Given the description of an element on the screen output the (x, y) to click on. 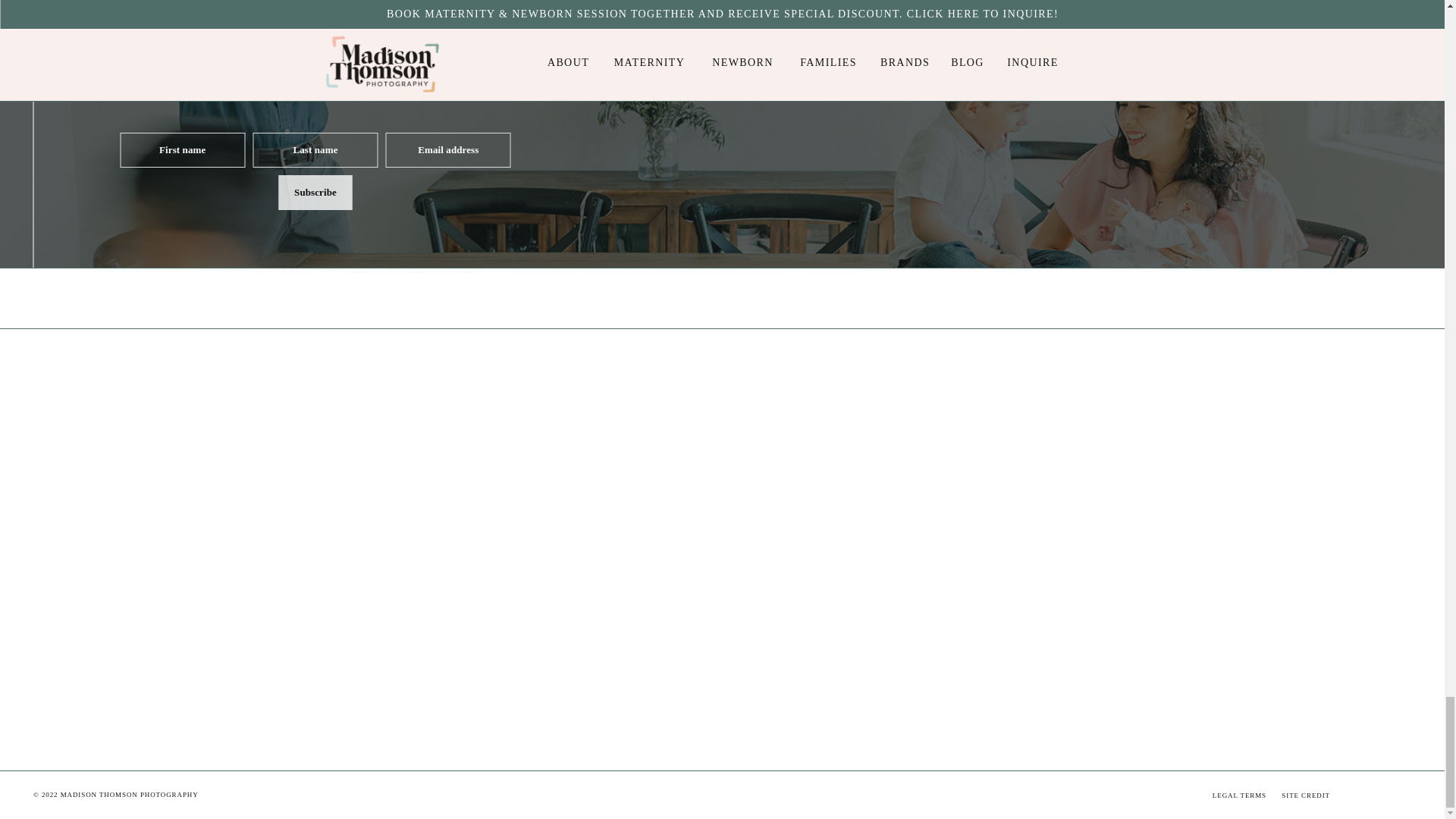
High-Tide-by-Northfolk---00002 (635, 648)
